Given the description of an element on the screen output the (x, y) to click on. 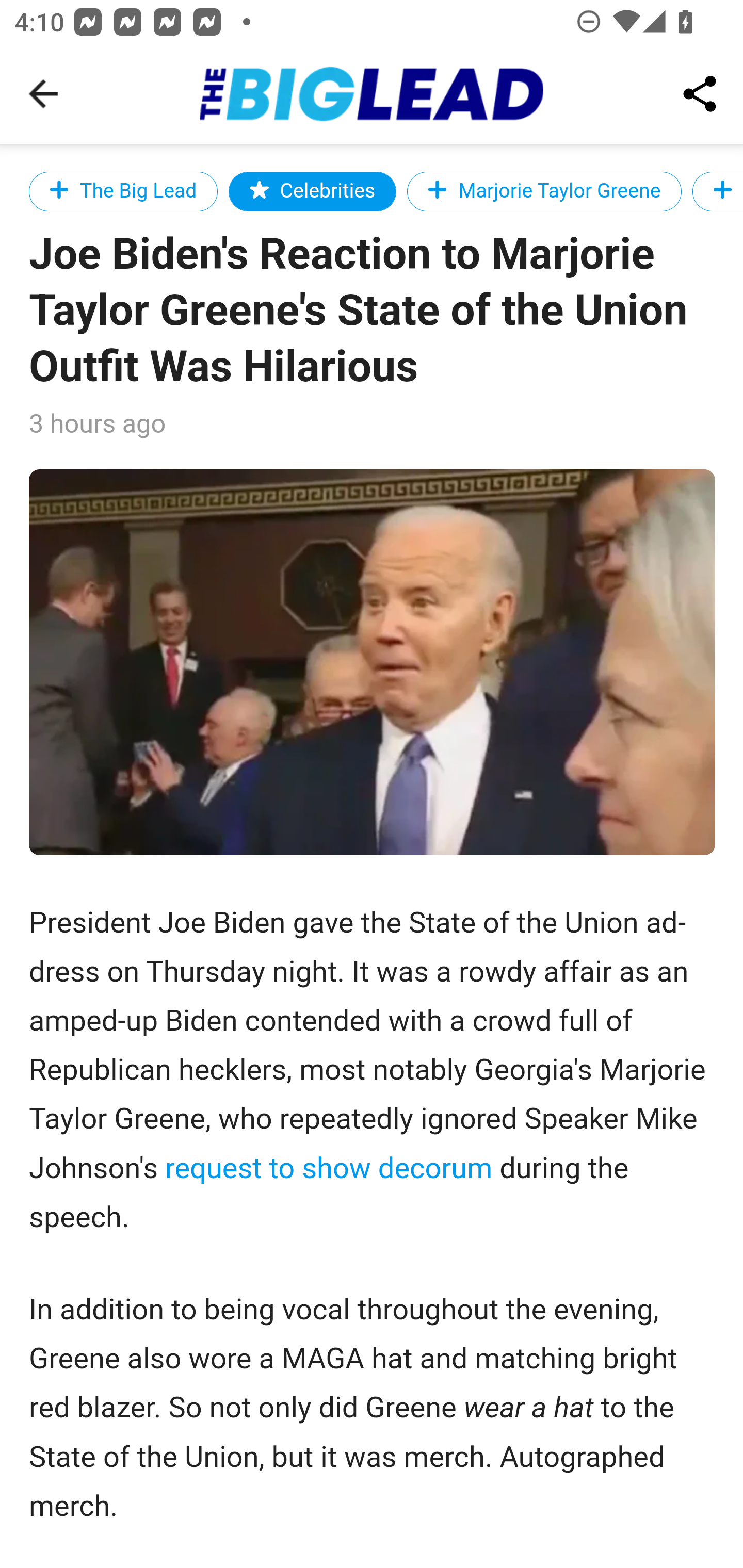
The Big Lead (123, 191)
Celebrities (312, 191)
Marjorie Taylor Greene (544, 191)
request to show decorum (328, 1167)
